Given the description of an element on the screen output the (x, y) to click on. 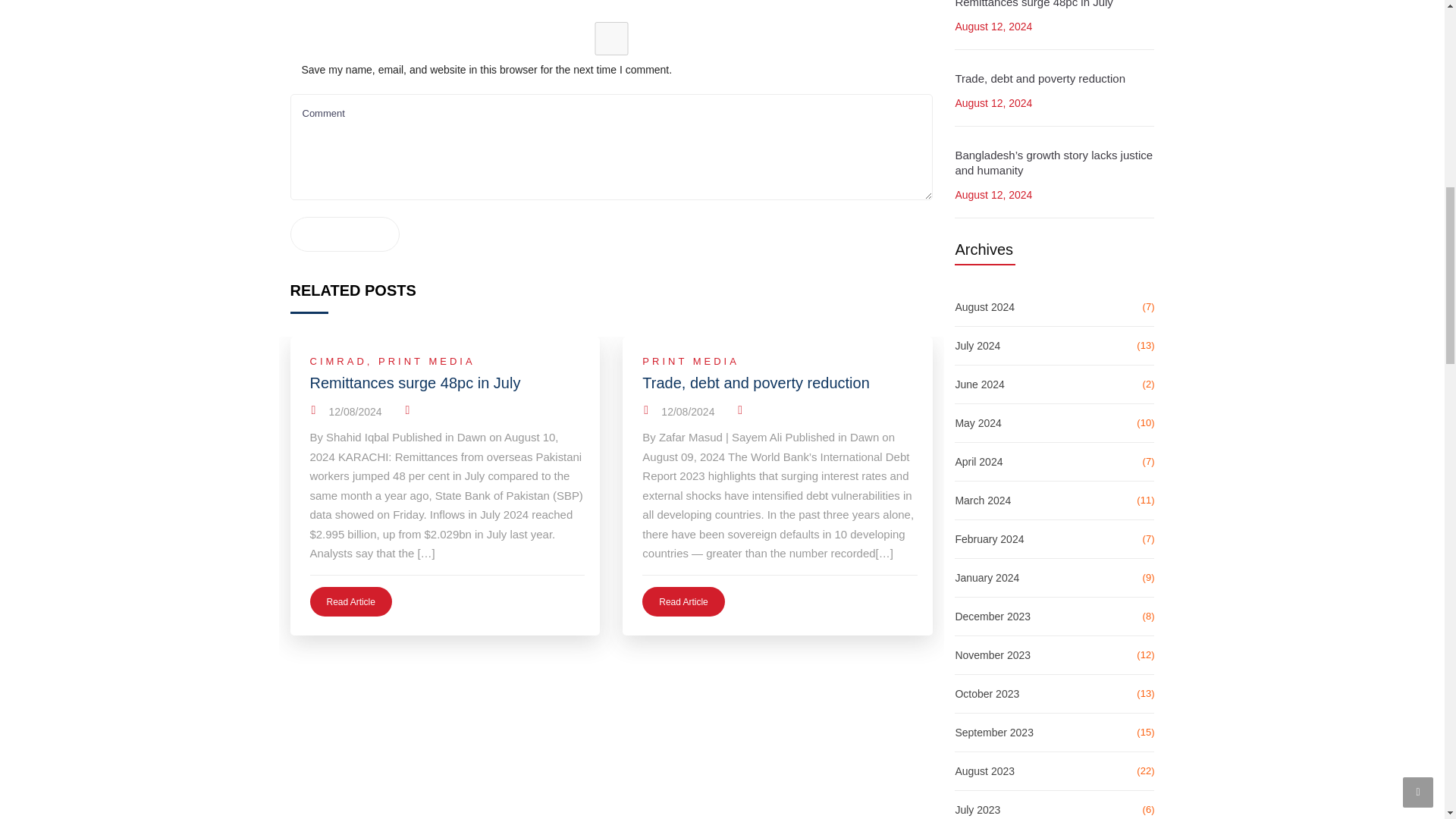
Post Comment (343, 234)
Remittances surge 48pc in July (446, 382)
yes (611, 38)
Post Comment (343, 234)
CIMRAD (337, 360)
PRINT MEDIA (427, 360)
